Given the description of an element on the screen output the (x, y) to click on. 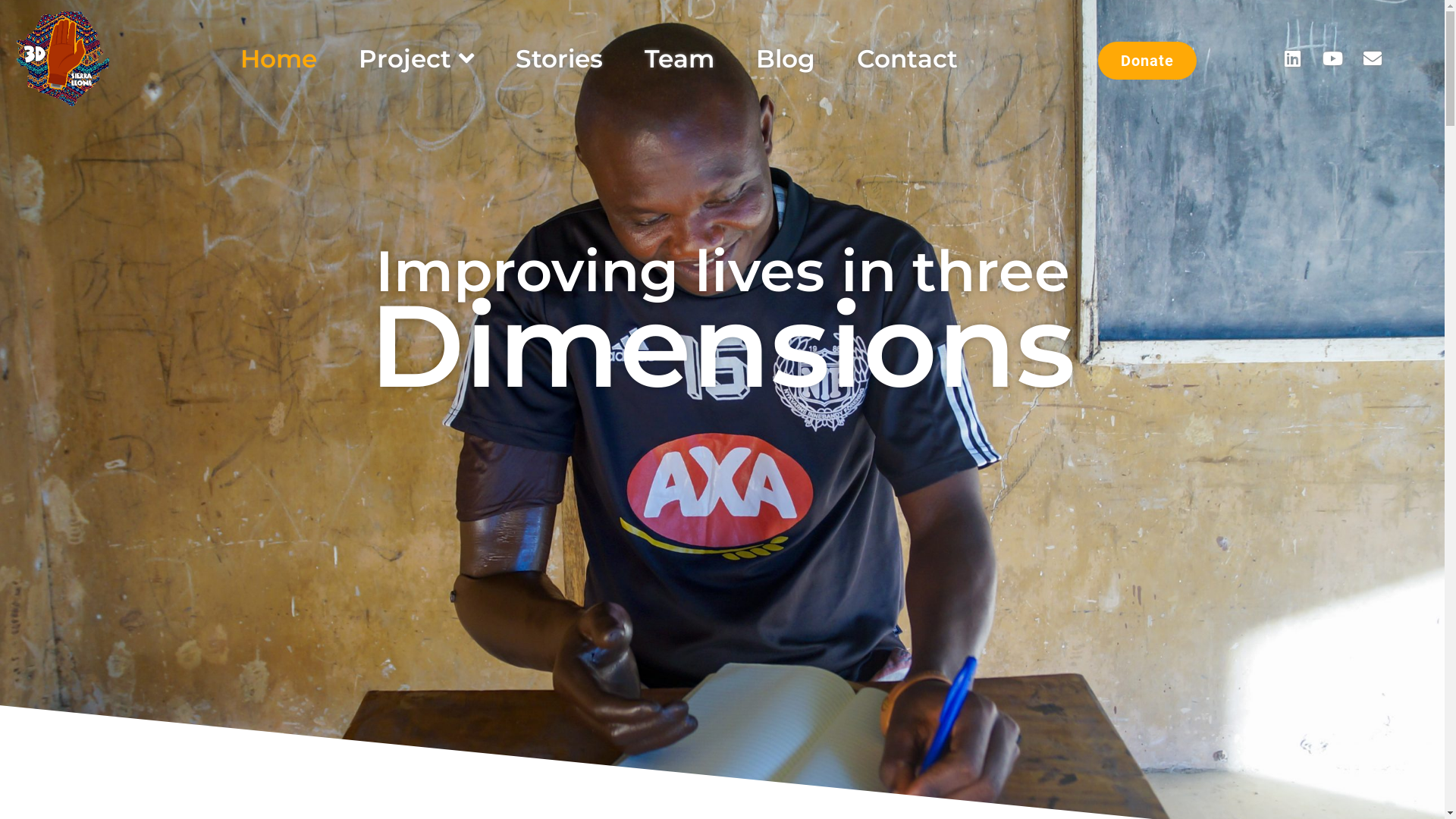
Home Element type: text (278, 58)
Donate Element type: text (1147, 60)
Contact Element type: text (906, 58)
Stories Element type: text (559, 58)
Project Element type: text (416, 58)
Blog Element type: text (785, 58)
Team Element type: text (679, 58)
